Given the description of an element on the screen output the (x, y) to click on. 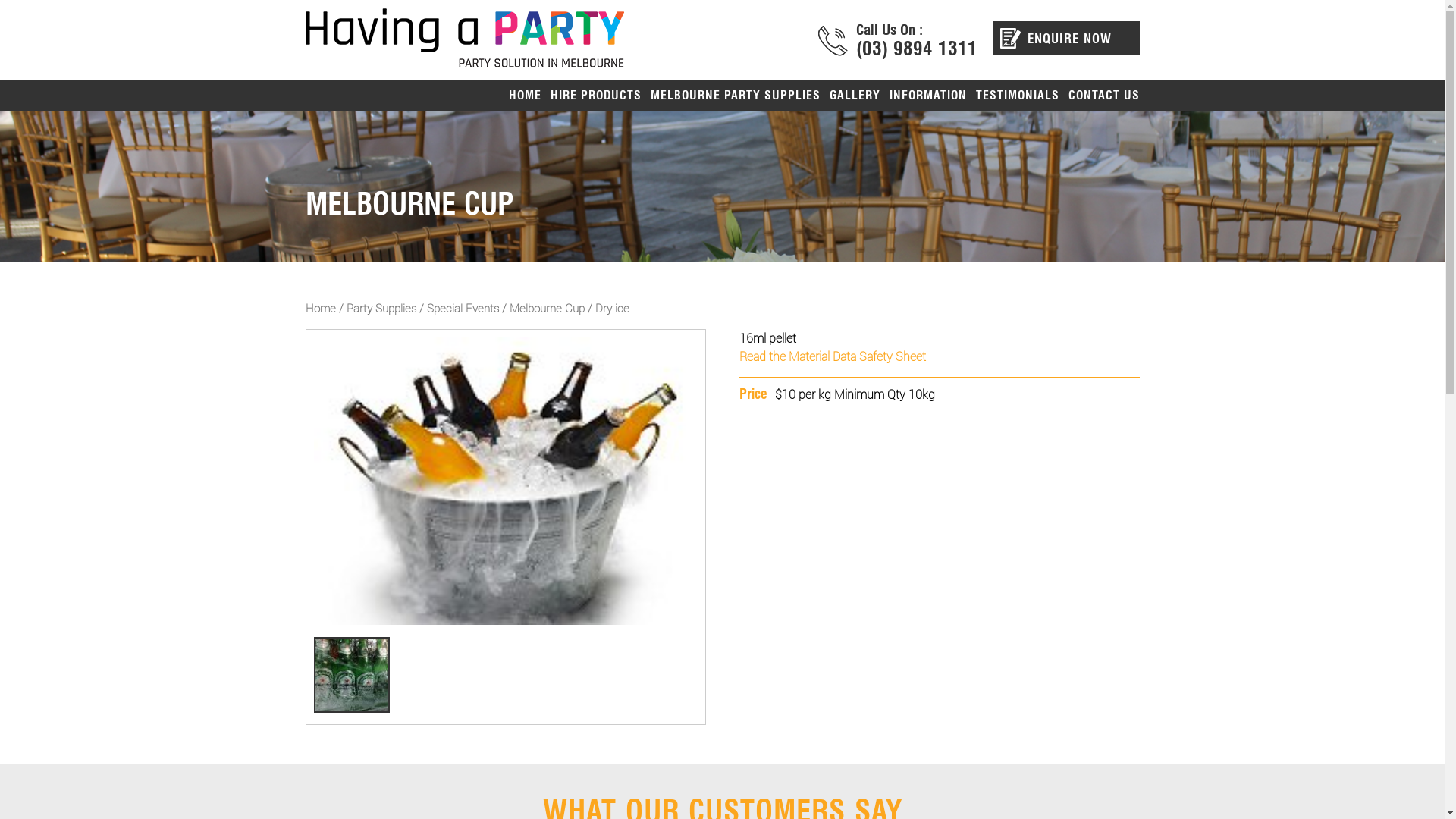
Party Supplies Element type: text (380, 308)
MELBOURNE PARTY SUPPLIES Element type: text (735, 94)
dryice melbcup2 Element type: hover (505, 481)
HIRE PRODUCTS Element type: text (596, 94)
dryice melbcup1 Element type: hover (351, 674)
ENQUIRE NOW Element type: text (1065, 38)
HOME Element type: text (524, 94)
Read the Material Data Safety Sheet Element type: text (831, 356)
(03) 9894 1311 Element type: text (915, 48)
INFORMATION Element type: text (927, 94)
Home Element type: text (319, 308)
GALLERY Element type: text (854, 94)
CONTACT US Element type: text (1101, 94)
TESTIMONIALS Element type: text (1016, 94)
Melbourne Cup Element type: text (546, 308)
Special Events Element type: text (462, 308)
HAVING A PARTY Element type: text (465, 43)
